Given the description of an element on the screen output the (x, y) to click on. 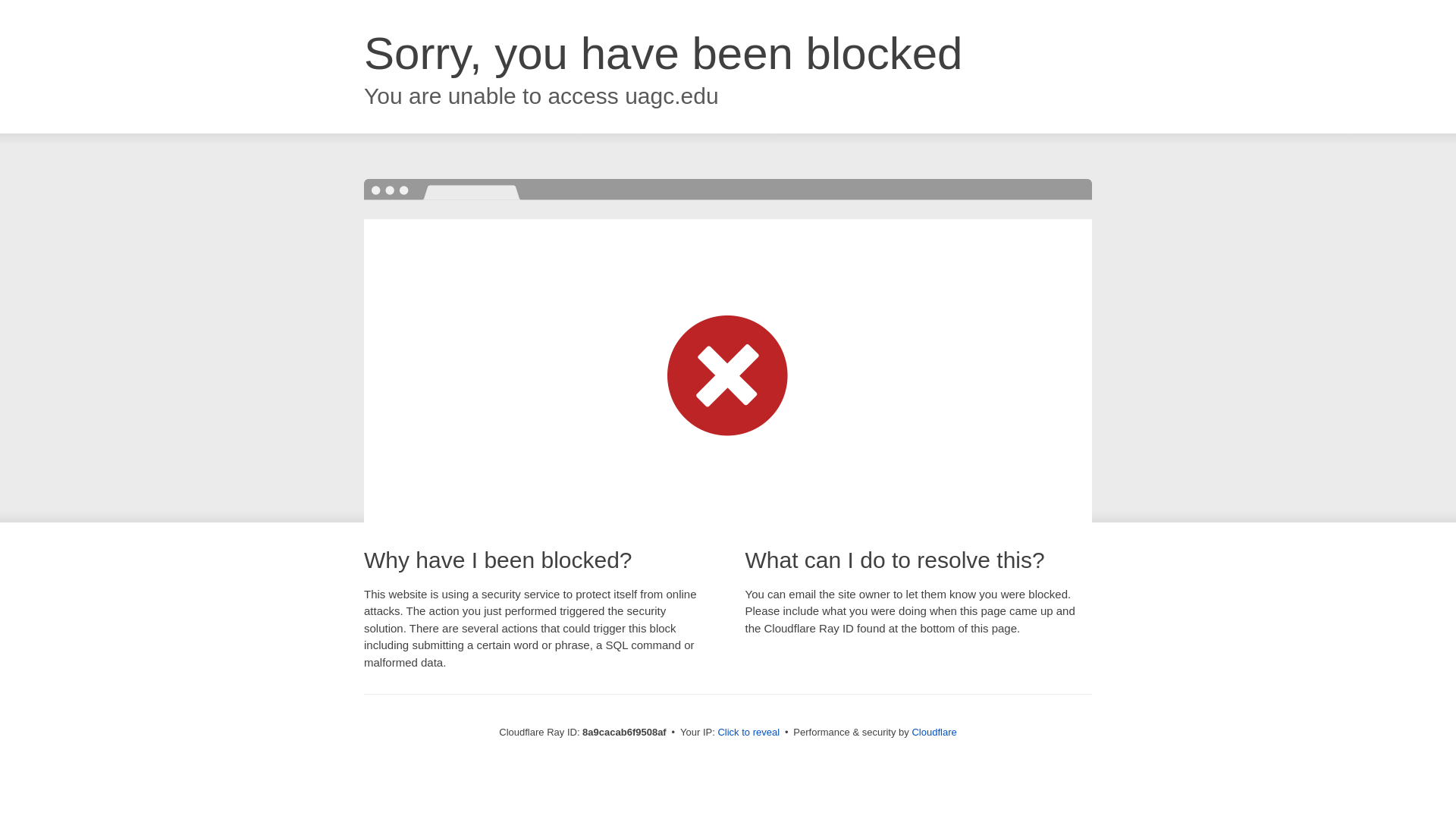
Click to reveal (747, 732)
Cloudflare (933, 731)
